Given the description of an element on the screen output the (x, y) to click on. 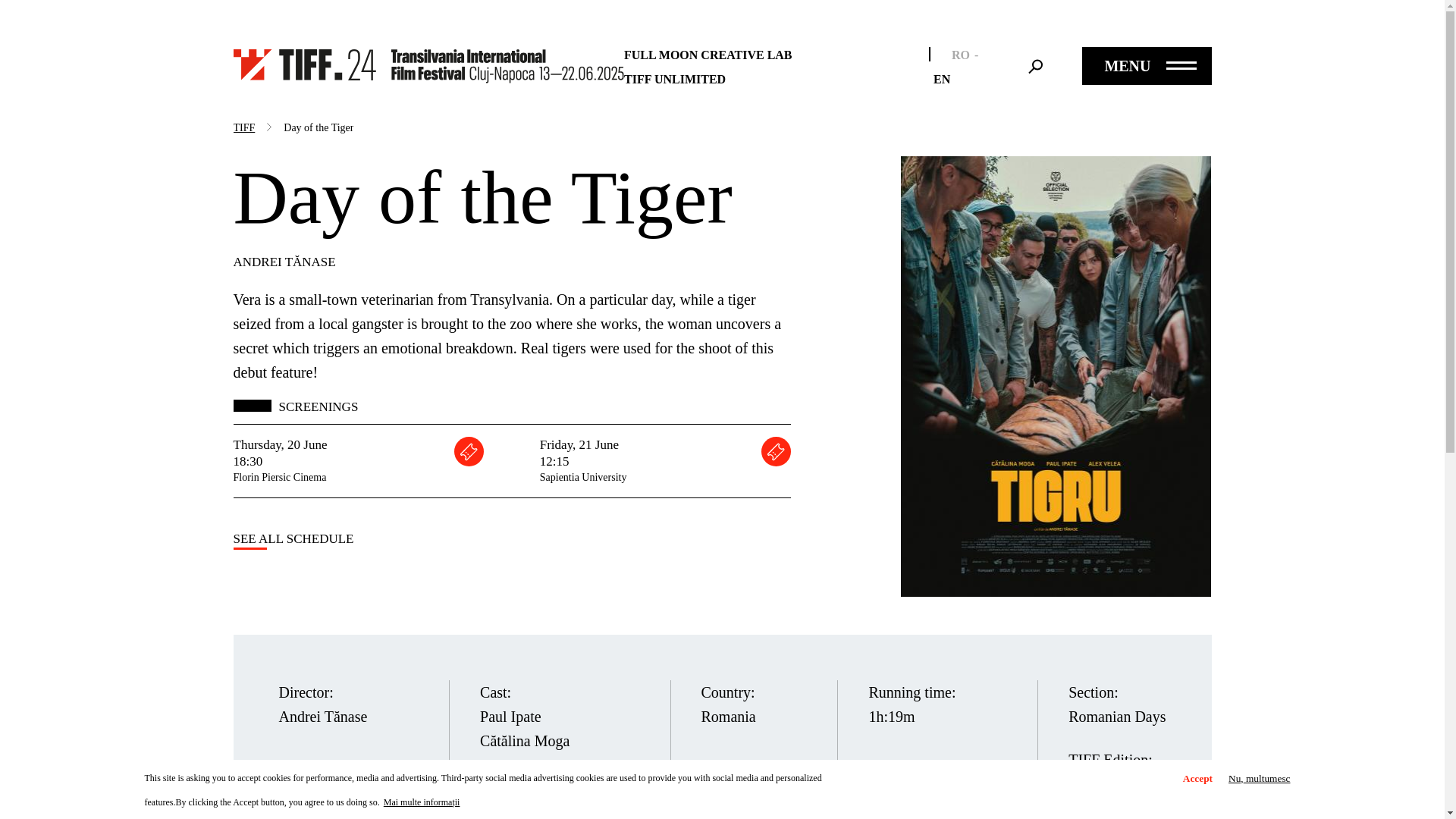
EN (941, 78)
RO (960, 54)
FULL MOON CREATIVE LAB (708, 54)
TIFF UNLIMITED (674, 79)
